Given the description of an element on the screen output the (x, y) to click on. 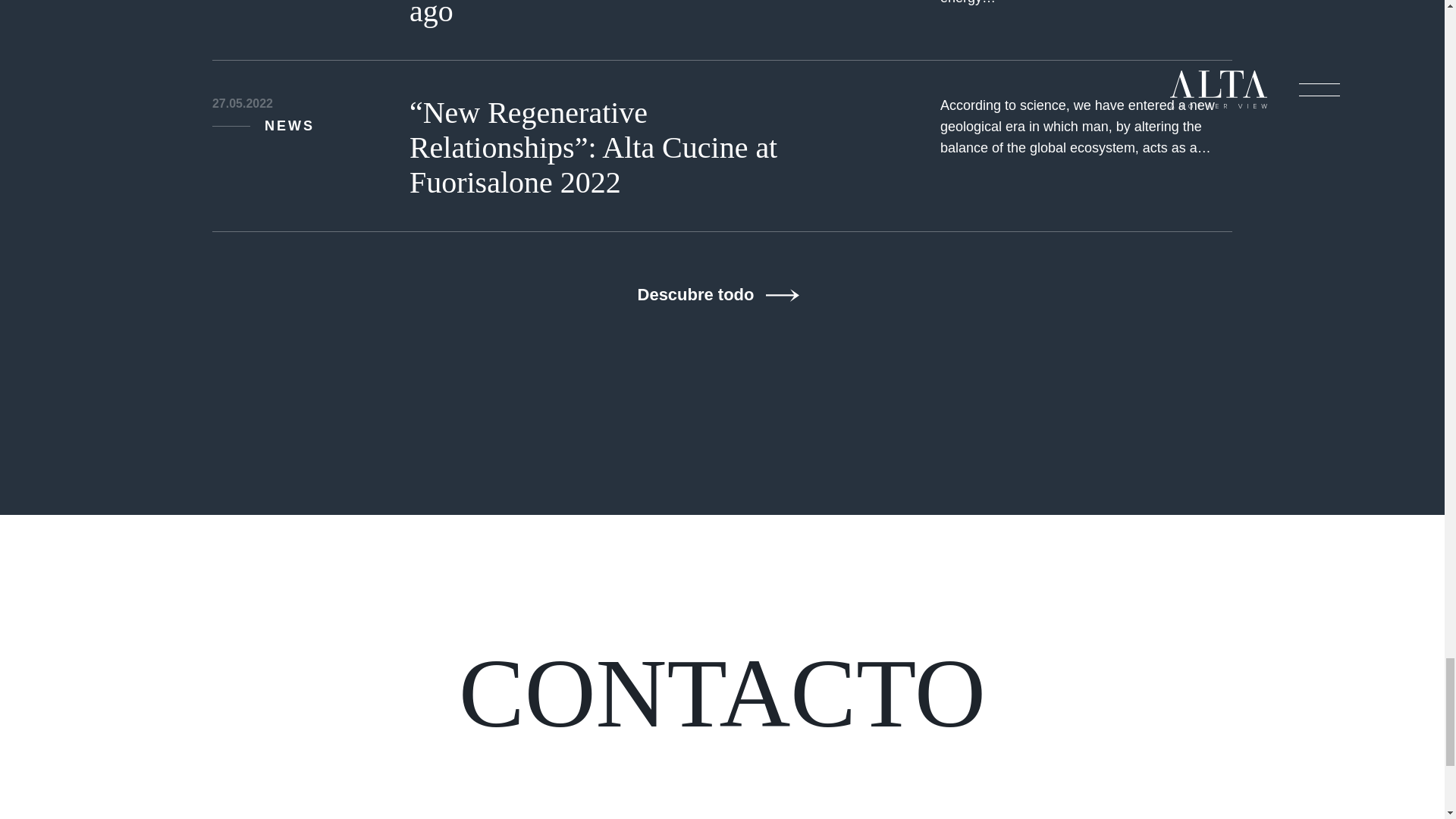
Descubre todo (760, 294)
CONTACTO (721, 692)
